Given the description of an element on the screen output the (x, y) to click on. 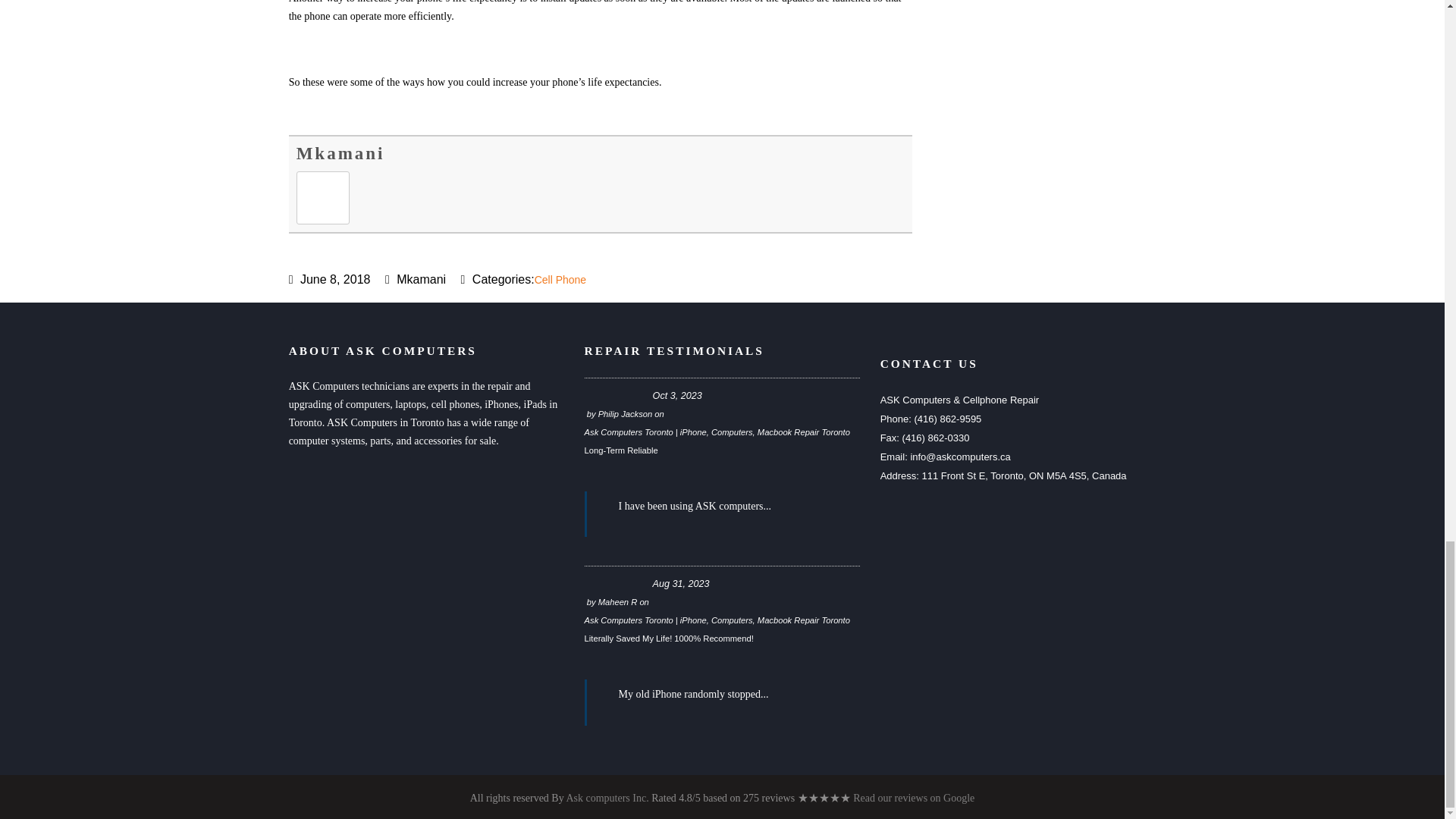
Mkamani (341, 153)
Cell Phone (560, 279)
All posts by Mkamani (341, 153)
